Given the description of an element on the screen output the (x, y) to click on. 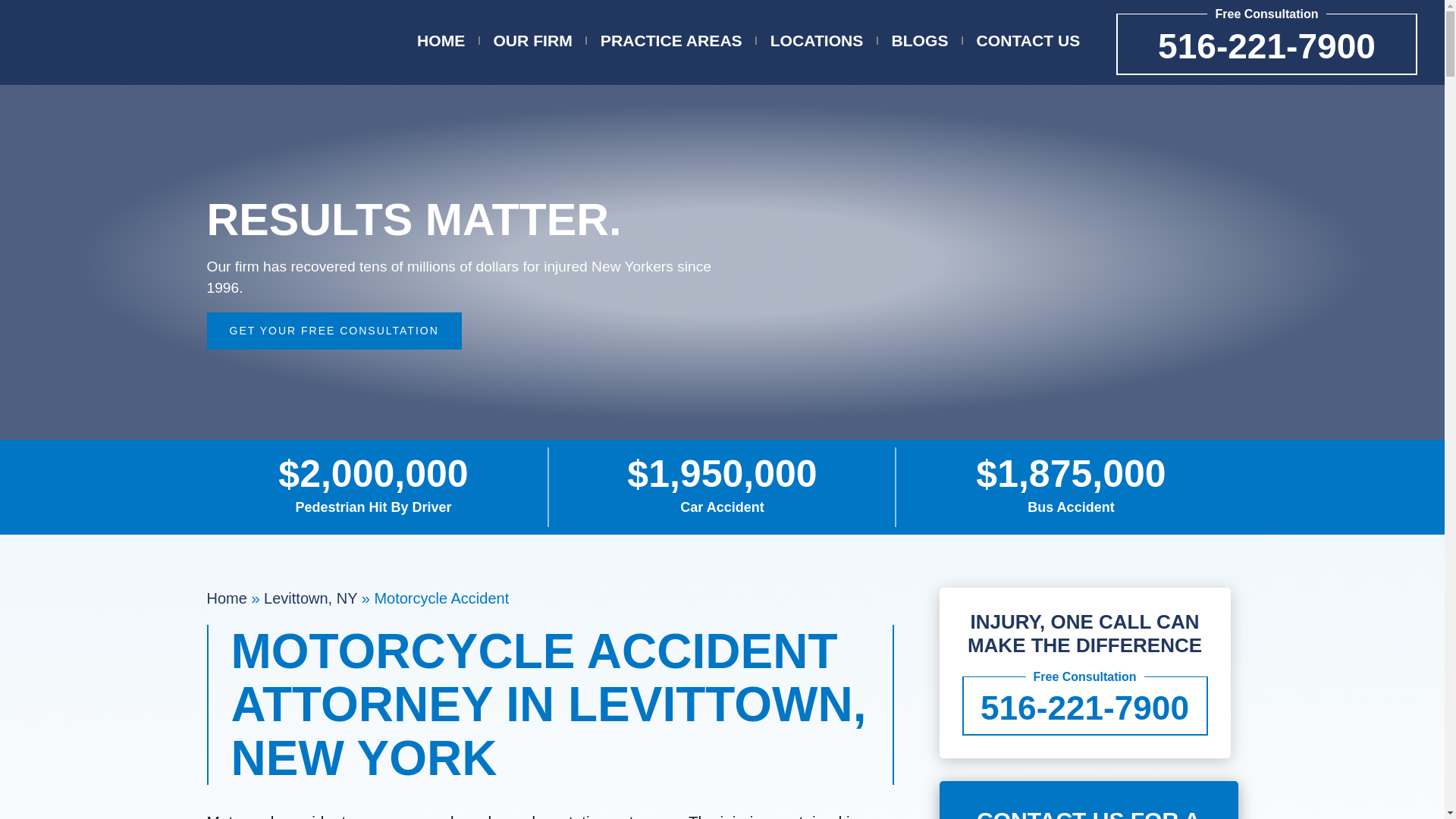
LOCATIONS (816, 40)
PRACTICE AREAS (670, 40)
OUR FIRM (532, 40)
HOME (440, 40)
